Given the description of an element on the screen output the (x, y) to click on. 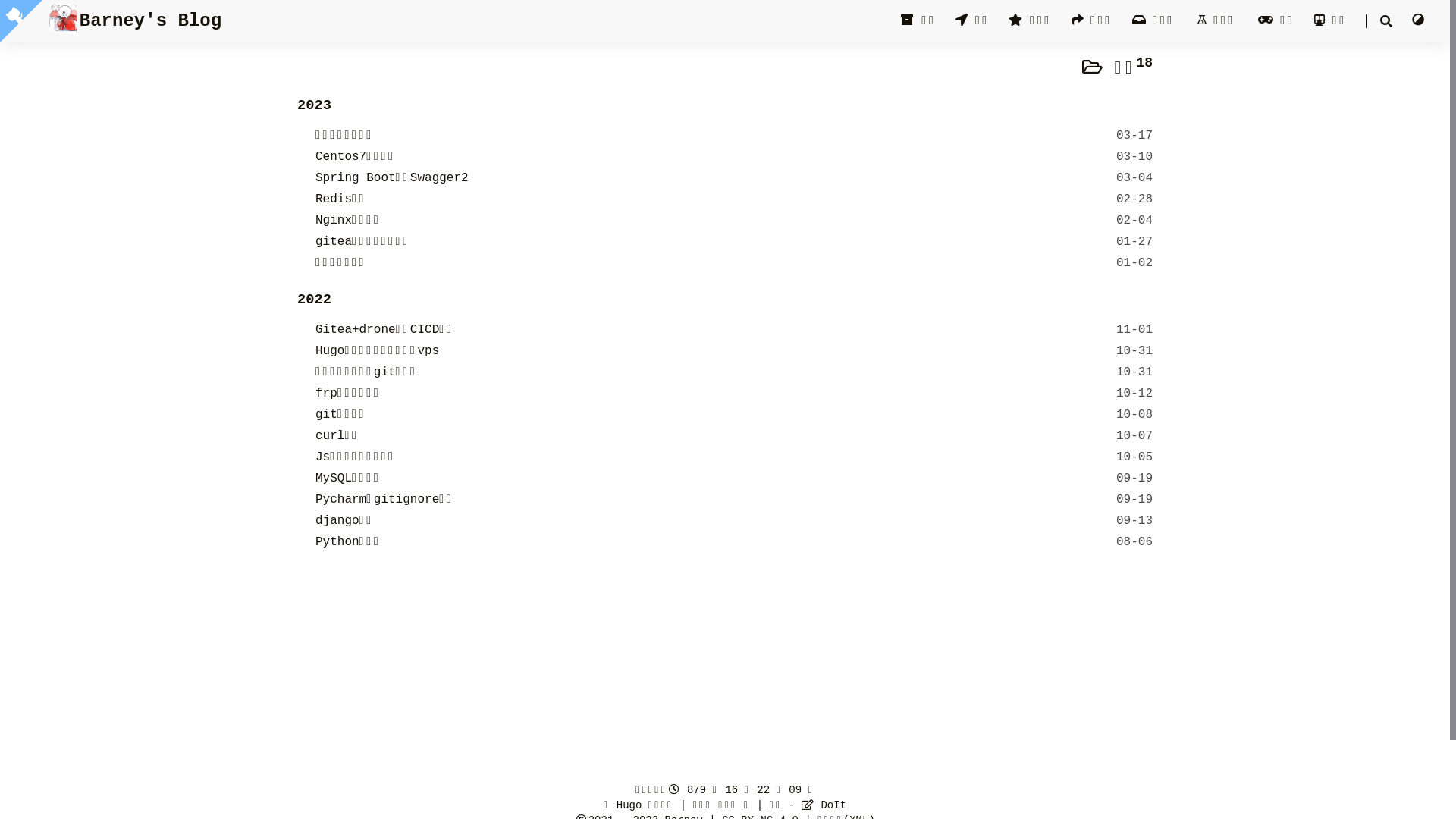
DoIt Element type: text (823, 805)
Hugo Element type: text (629, 805)
Barney's Blog Element type: text (135, 20)
/images/img/20220215001349.png Element type: hover (64, 17)
